Given the description of an element on the screen output the (x, y) to click on. 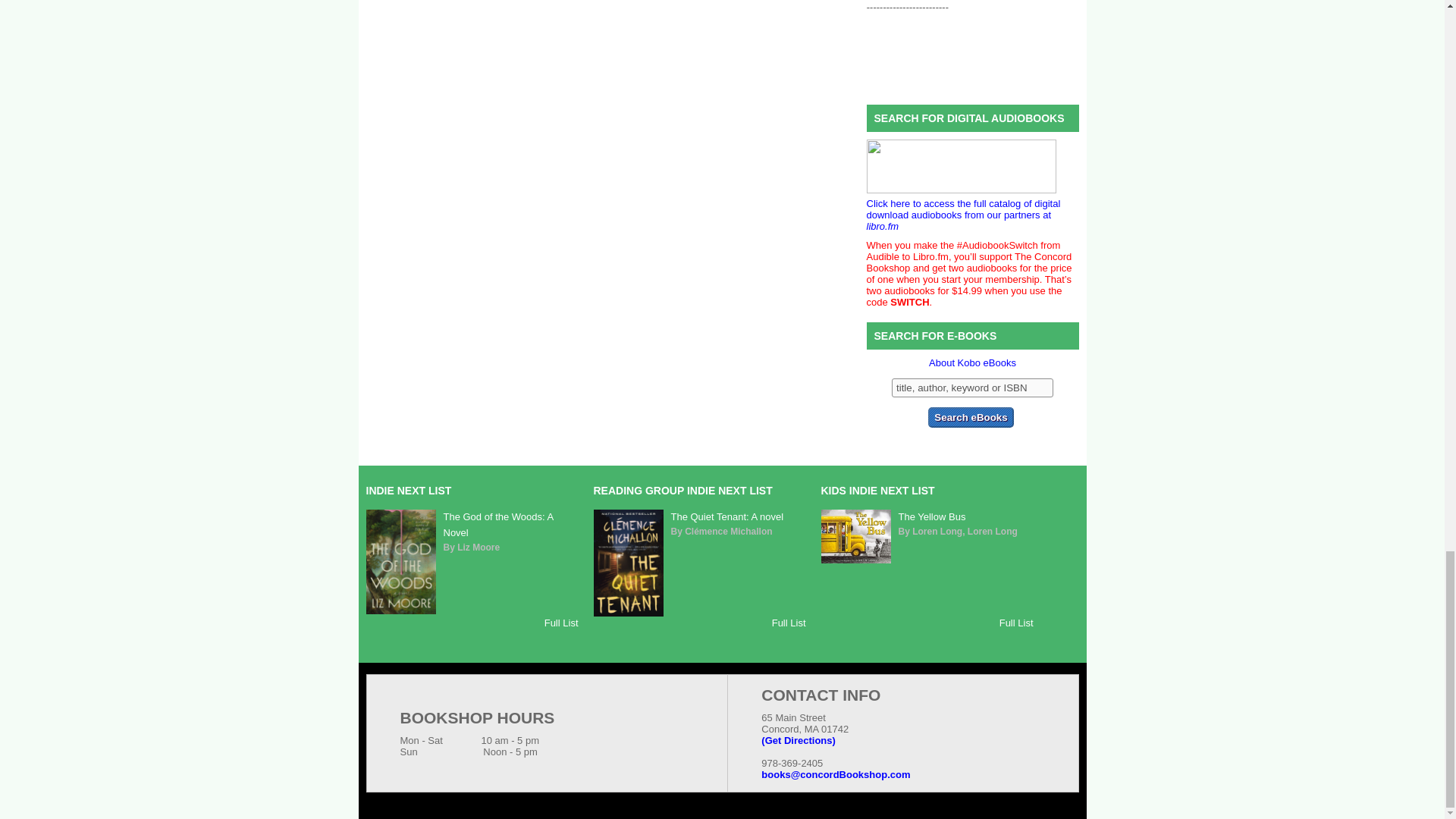
The God of the Woods: A Novel - by Liz Moore (497, 524)
Enter title, author, keyword or ISBN. (971, 387)
title, author, keyword or ISBN (971, 387)
Search eBooks (970, 417)
The God of the Woods: A Novel - by Liz Moore (400, 610)
The Yellow Bus - by Loren Long, Loren Long (855, 559)
